Given the description of an element on the screen output the (x, y) to click on. 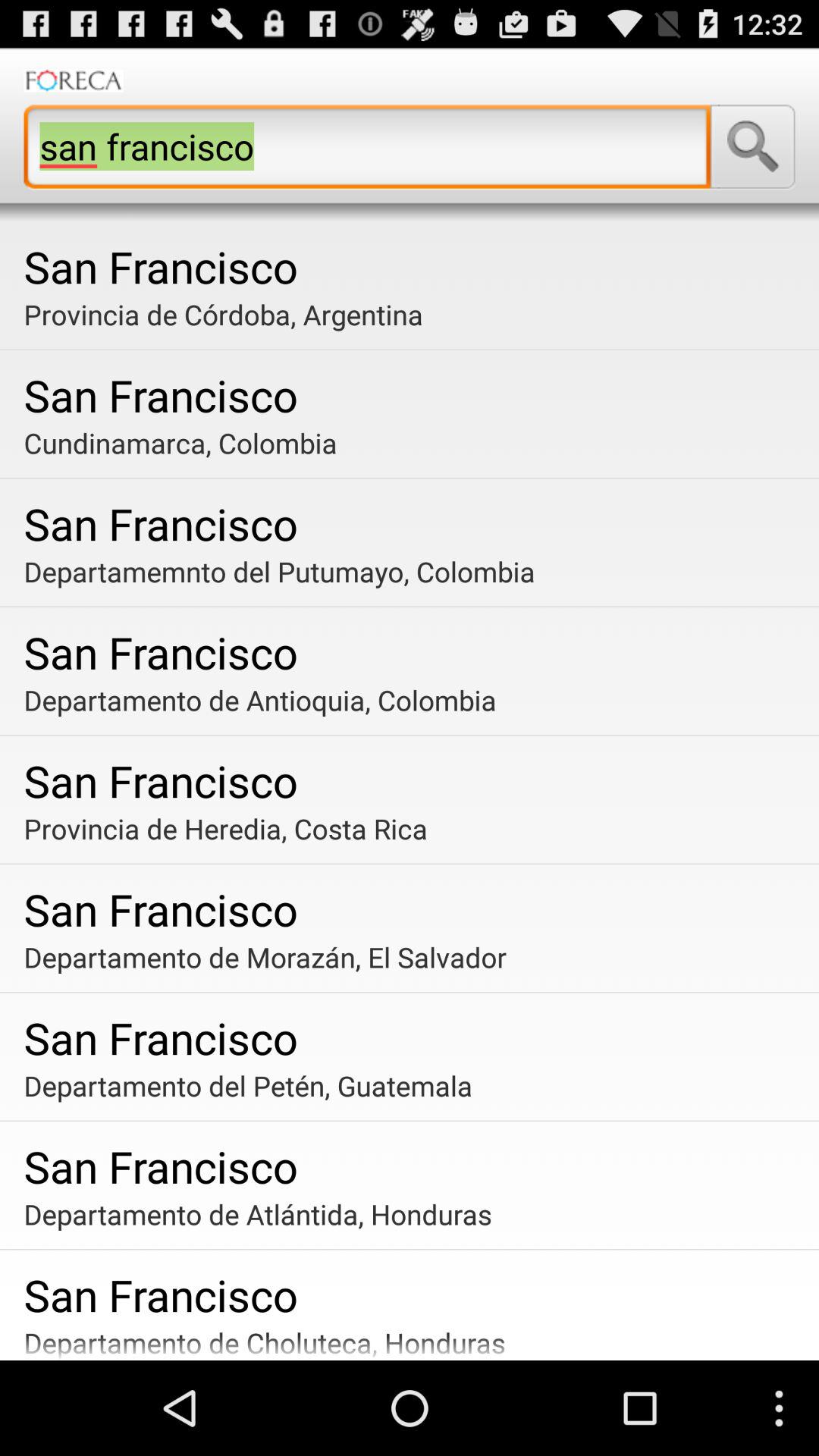
turn off icon to the right of the san francisco (752, 146)
